Given the description of an element on the screen output the (x, y) to click on. 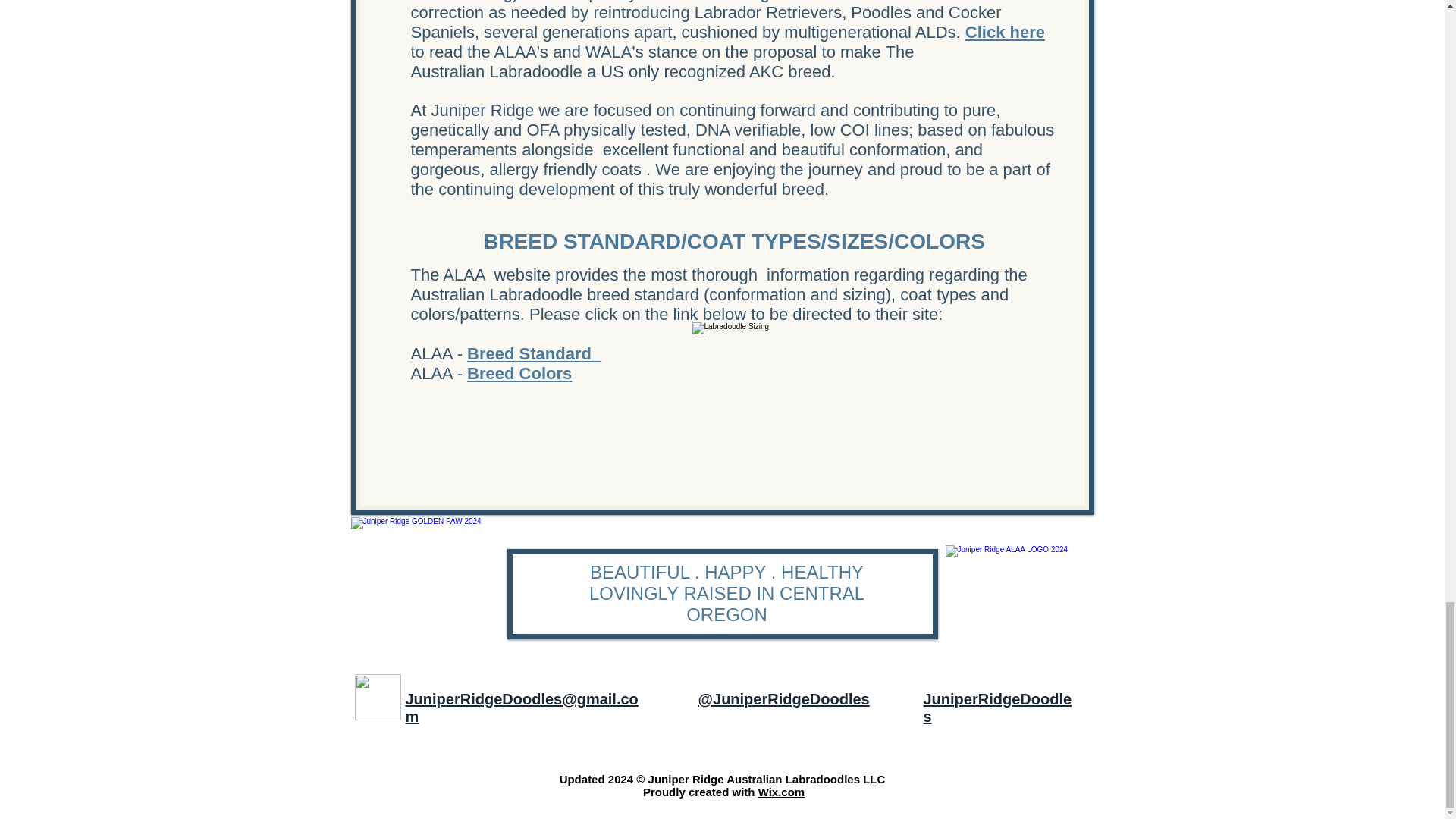
Click here (1005, 32)
Breed Standard   (533, 353)
Breed Colors (519, 373)
